Given the description of an element on the screen output the (x, y) to click on. 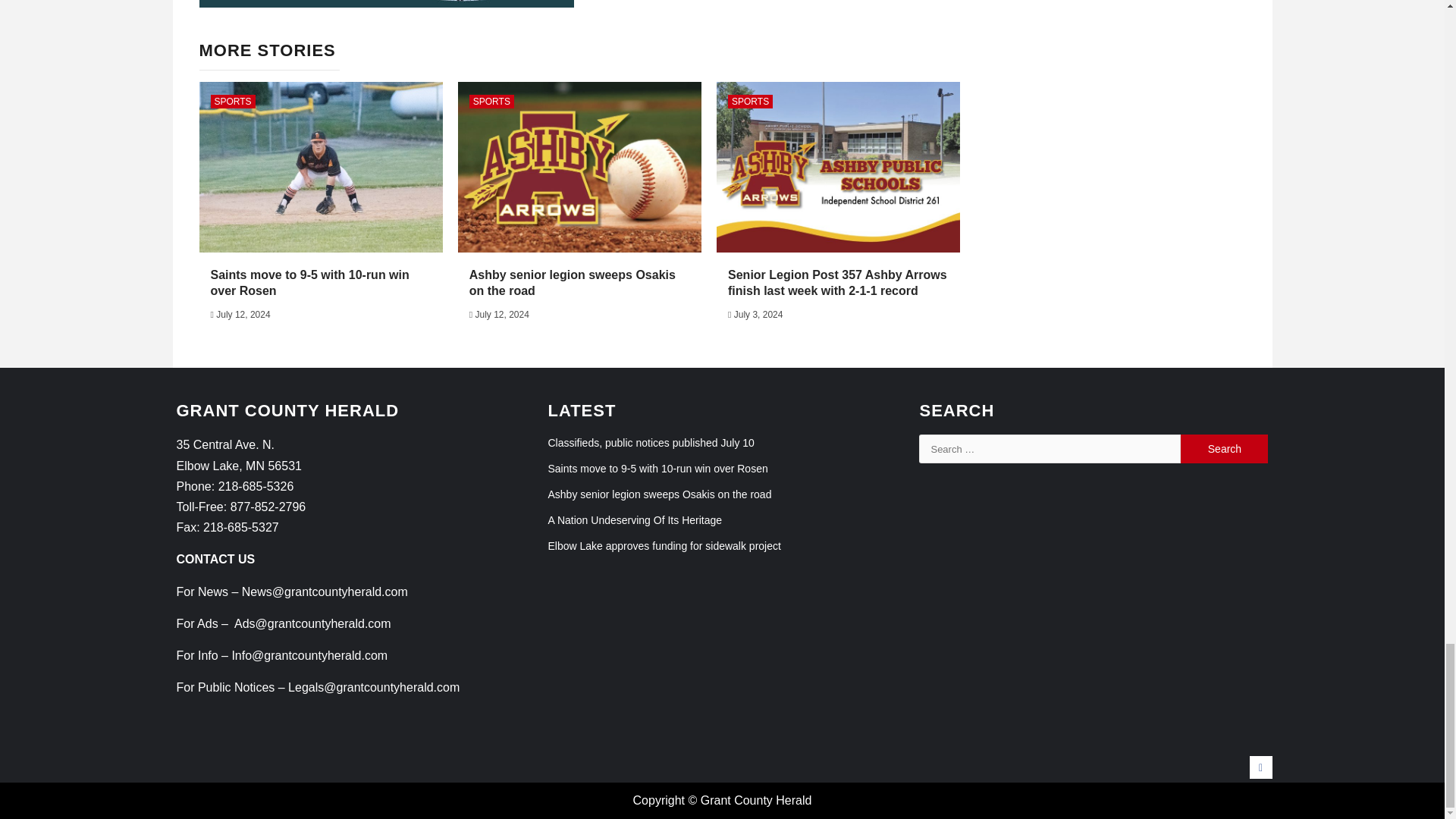
Search (1224, 448)
Search (1224, 448)
